Given the description of an element on the screen output the (x, y) to click on. 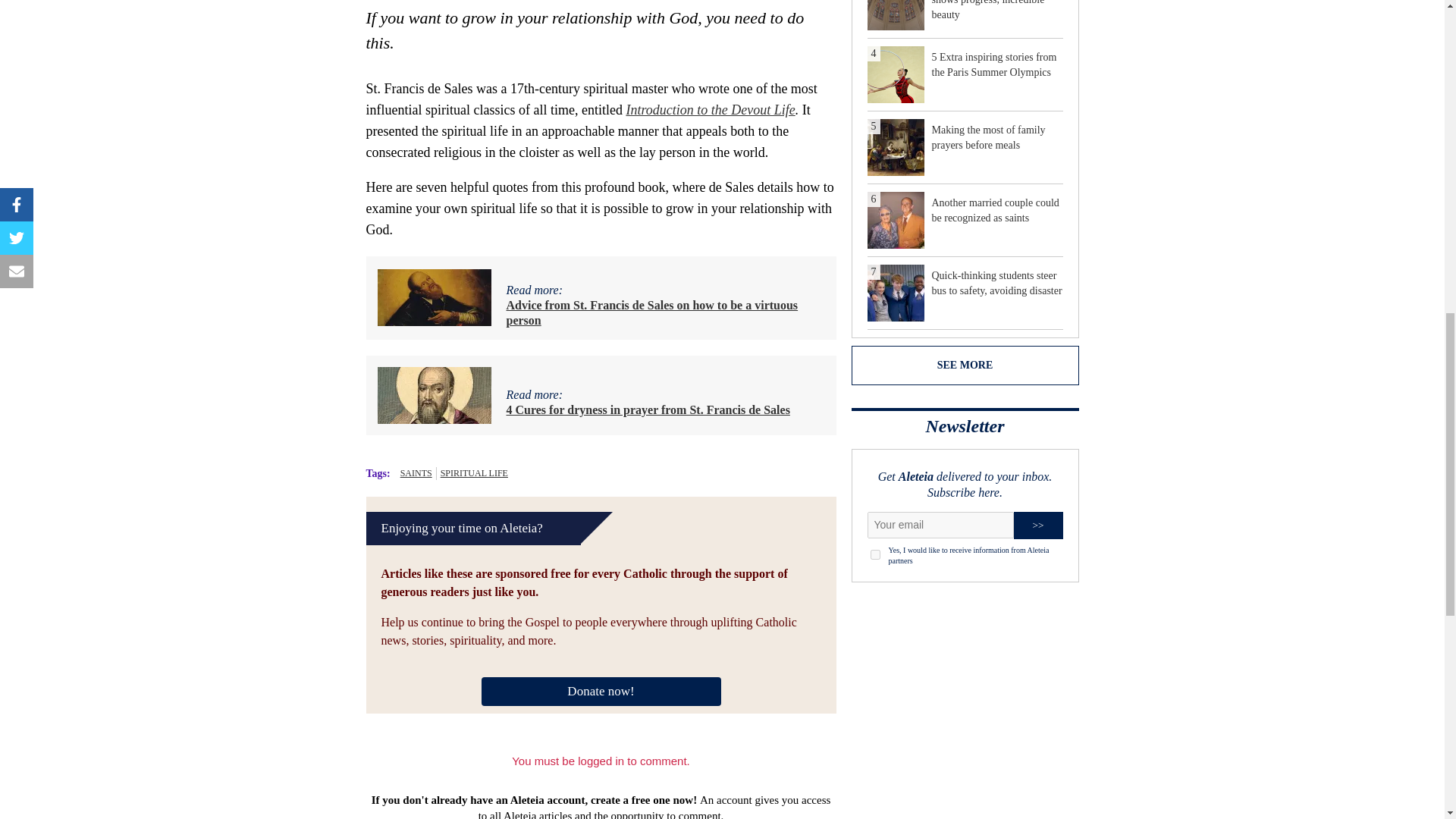
Introduction to the Devout Life (710, 109)
4 Cures for dryness in prayer from St. Francis de Sales (648, 409)
1 (875, 554)
